Given the description of an element on the screen output the (x, y) to click on. 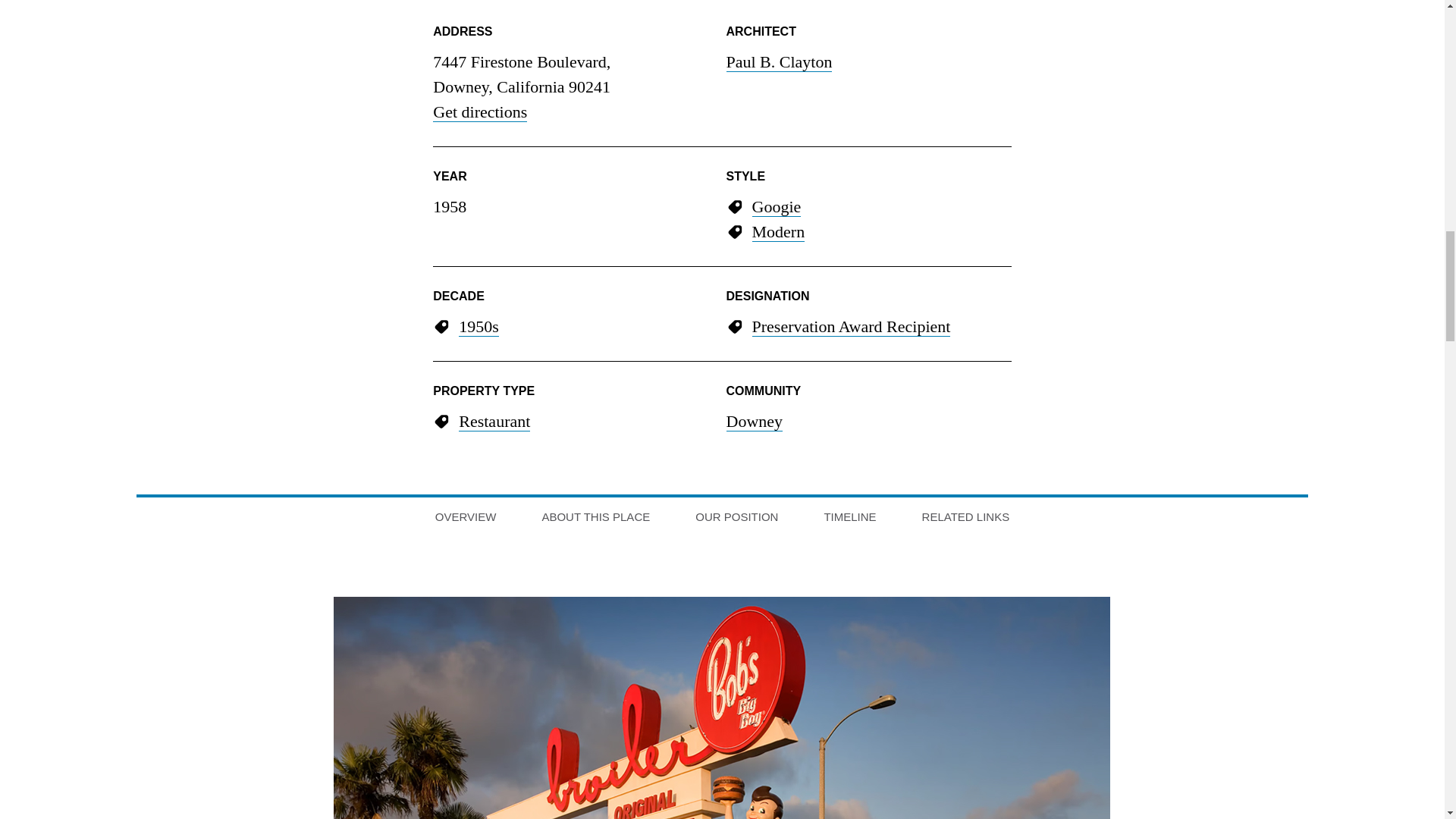
ABOUT THIS PLACE (595, 520)
RELATED LINKS (965, 520)
OUR POSITION (736, 520)
OVERVIEW (465, 520)
TIMELINE (850, 520)
